Given the description of an element on the screen output the (x, y) to click on. 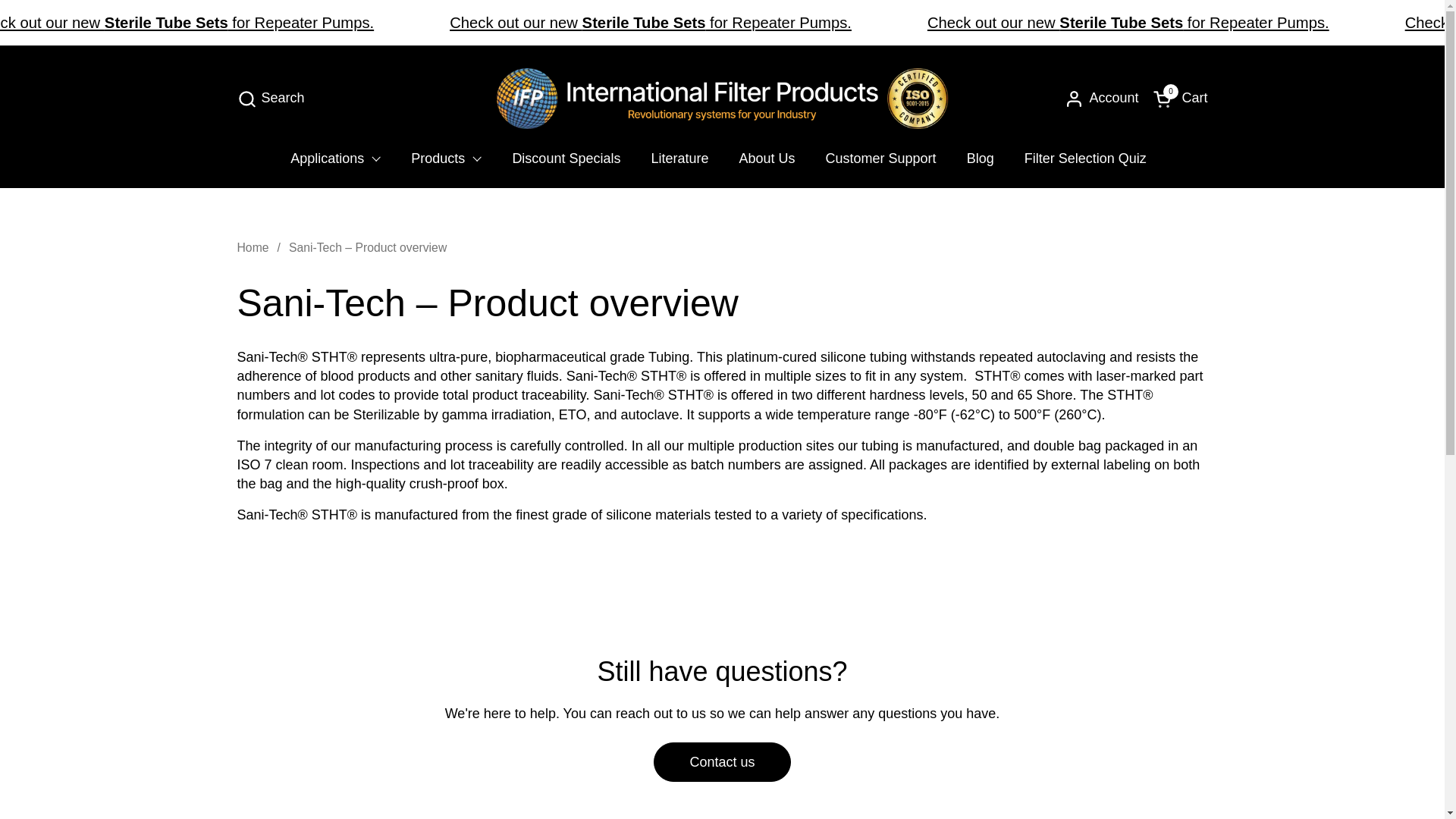
Check out our new Sterile Tube Sets for Repeater Pumps. (187, 22)
Open search (269, 98)
international-filter-products (722, 97)
Search (269, 98)
Applications (335, 158)
Check out our new Sterile Tube Sets for Repeater Pumps. (650, 22)
Open cart (1180, 98)
Check out our new Sterile Tube Sets for Repeater Pumps. (1180, 98)
Account (1128, 22)
